Given the description of an element on the screen output the (x, y) to click on. 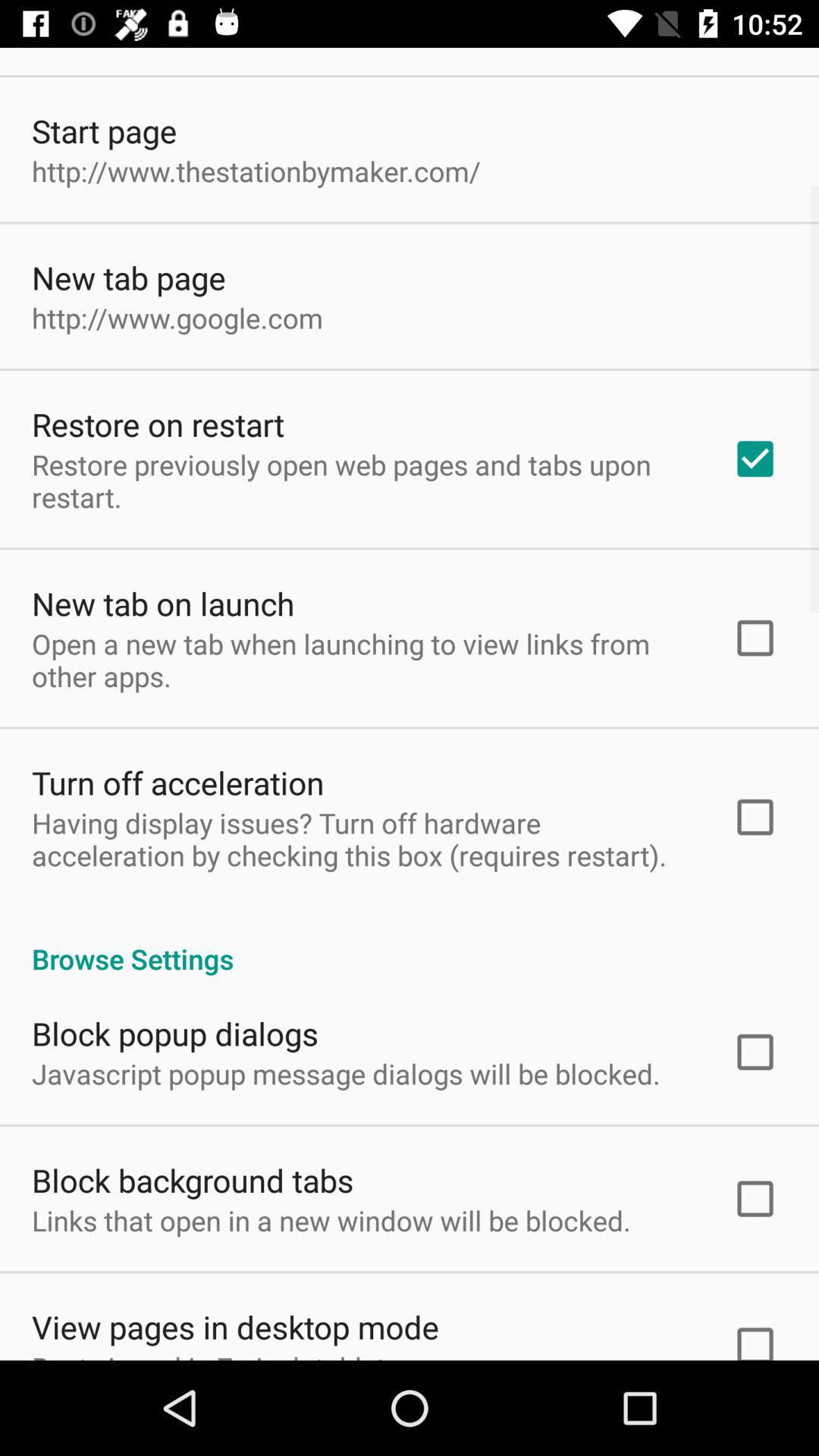
click the item below the javascript popup message (192, 1179)
